Given the description of an element on the screen output the (x, y) to click on. 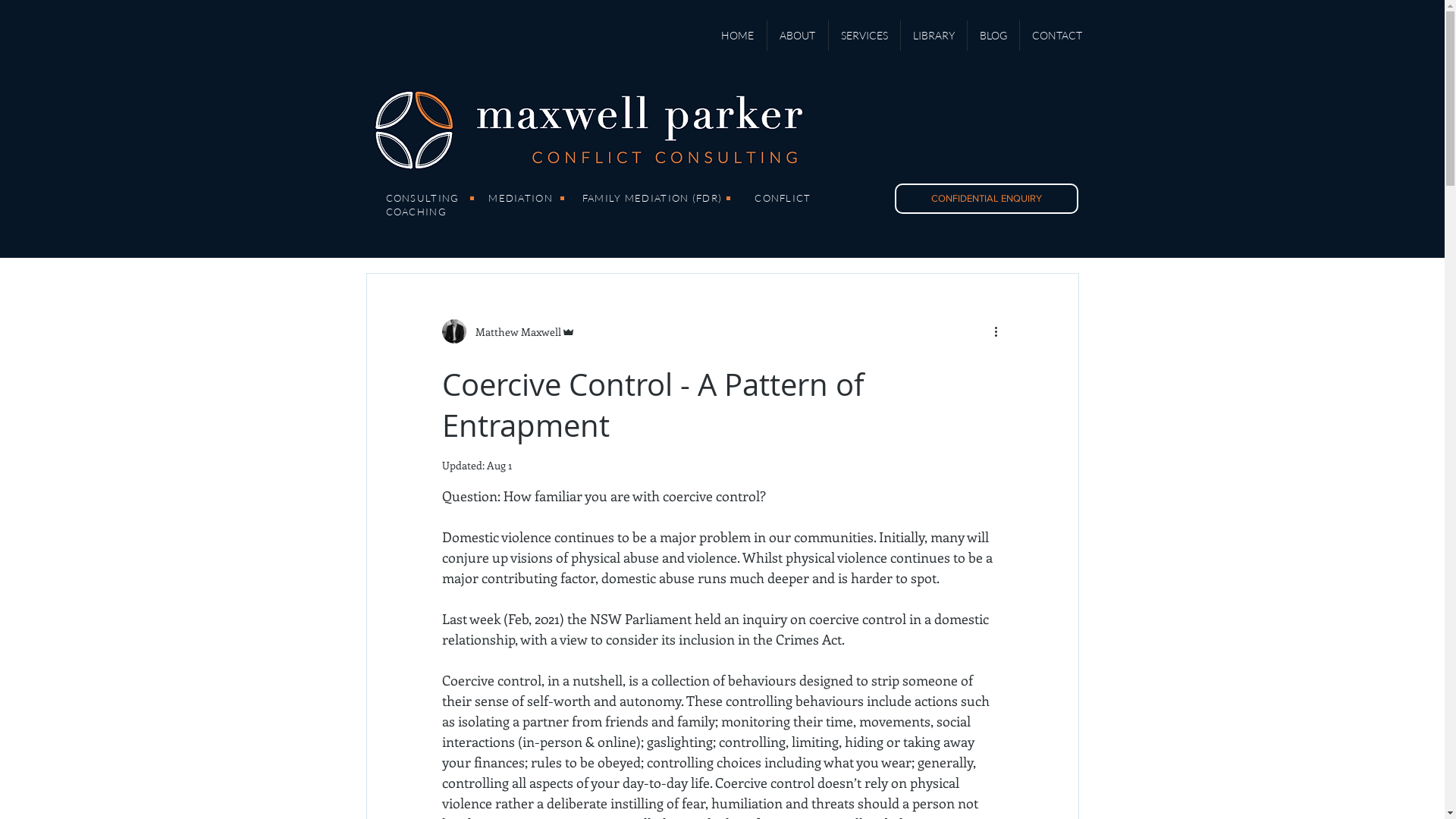
LIBRARY Element type: text (933, 35)
Matthew Maxwell Element type: text (507, 331)
CONFLICT COACHING         Element type: text (597, 204)
BLOG Element type: text (993, 35)
CONSULTING         MEDIATION Element type: text (470, 197)
CONTACT Element type: text (1056, 35)
HOME Element type: text (736, 35)
CONFIDENTIAL ENQUIRY Element type: text (986, 198)
FAMILY MEDIATION (FDR) Element type: text (652, 197)
